Given the description of an element on the screen output the (x, y) to click on. 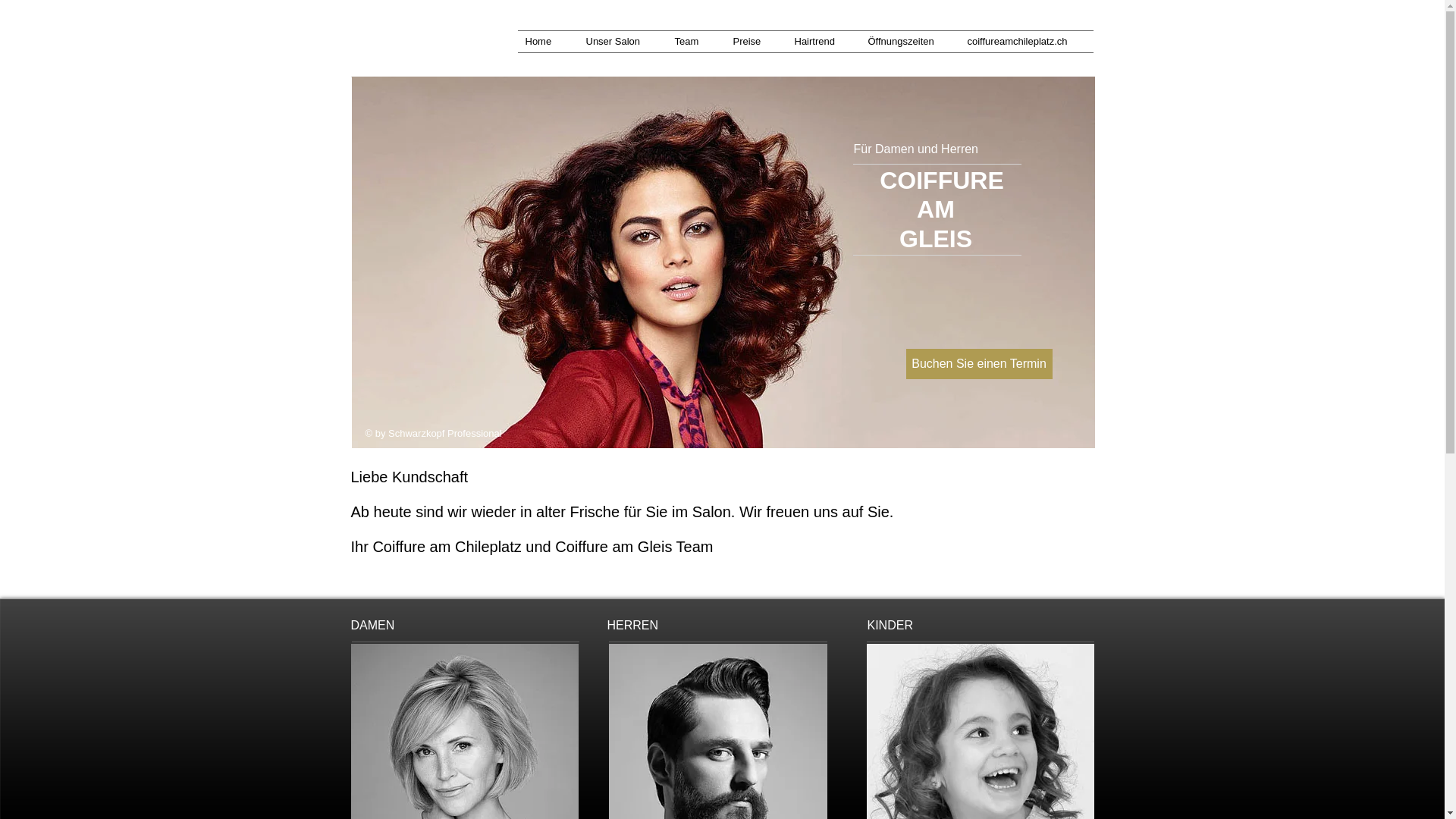
coiffureamchileplatz.ch Element type: text (1026, 41)
Buchen Sie einen Termin Element type: text (978, 363)
Home Element type: text (547, 41)
Unser Salon Element type: text (621, 41)
Team Element type: text (696, 41)
Hairtrend Element type: text (823, 41)
Preise Element type: text (755, 41)
